Given the description of an element on the screen output the (x, y) to click on. 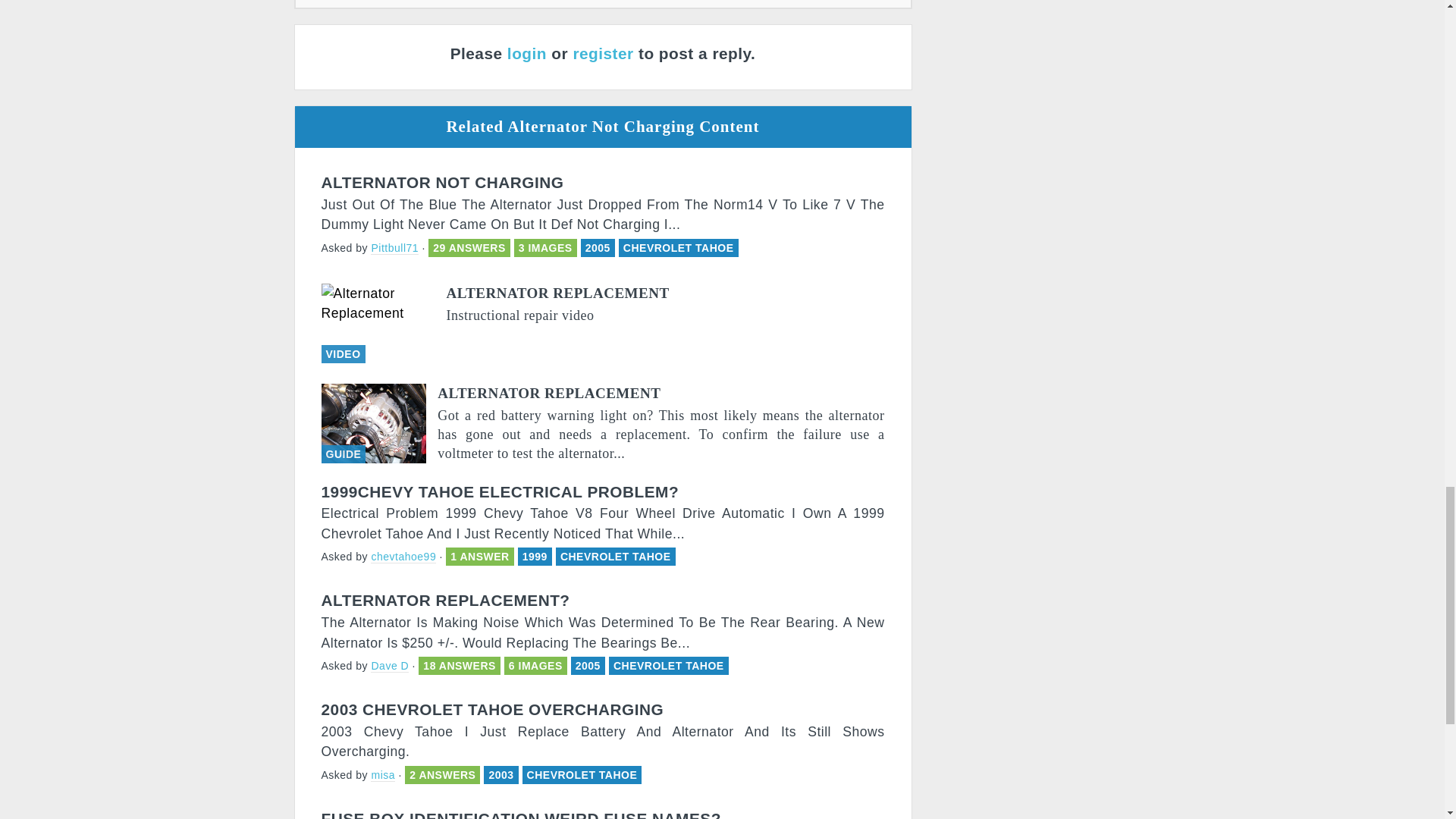
Dave D (390, 666)
Pittbull71 (395, 247)
CHEVROLET TAHOE (615, 556)
login (526, 53)
register (602, 53)
Alternator Replacement (603, 423)
chevtahoe99 (403, 556)
